Given the description of an element on the screen output the (x, y) to click on. 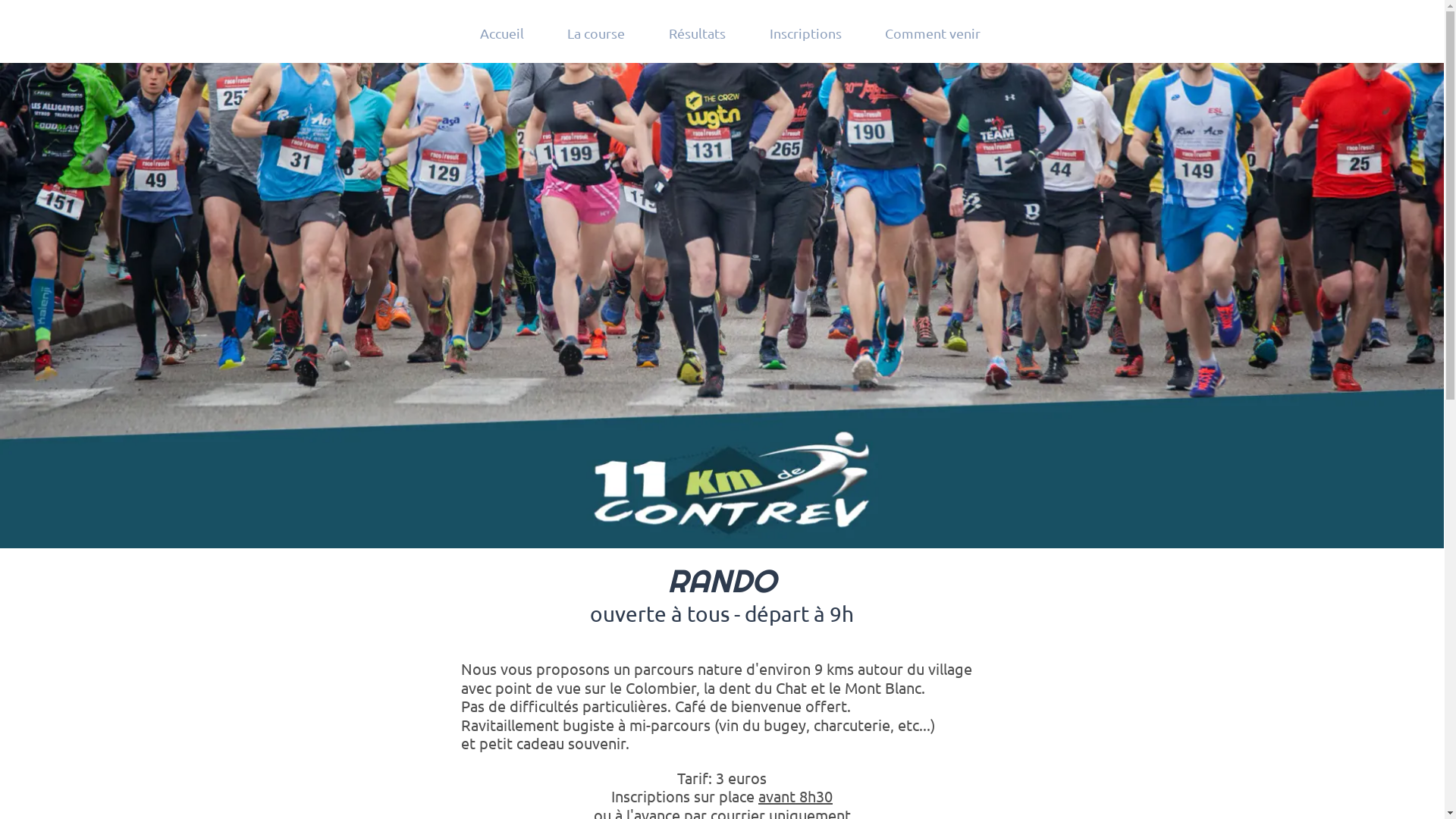
Inscriptions Element type: text (805, 34)
Accueil Element type: text (501, 34)
Comment venir Element type: text (932, 34)
La course Element type: text (596, 34)
